Given the description of an element on the screen output the (x, y) to click on. 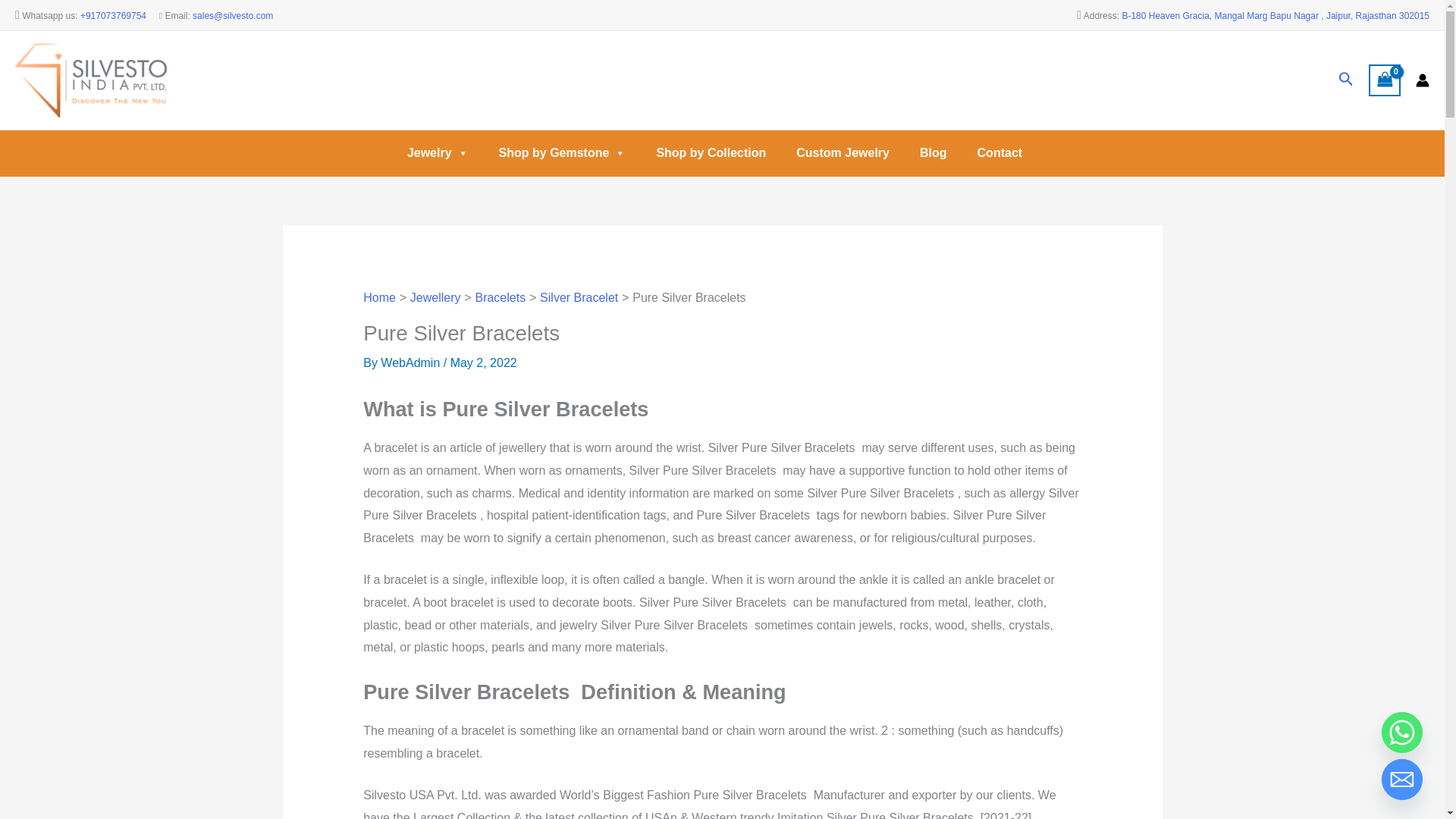
View all posts by WebAdmin (411, 362)
Jewelry (437, 153)
